Given the description of an element on the screen output the (x, y) to click on. 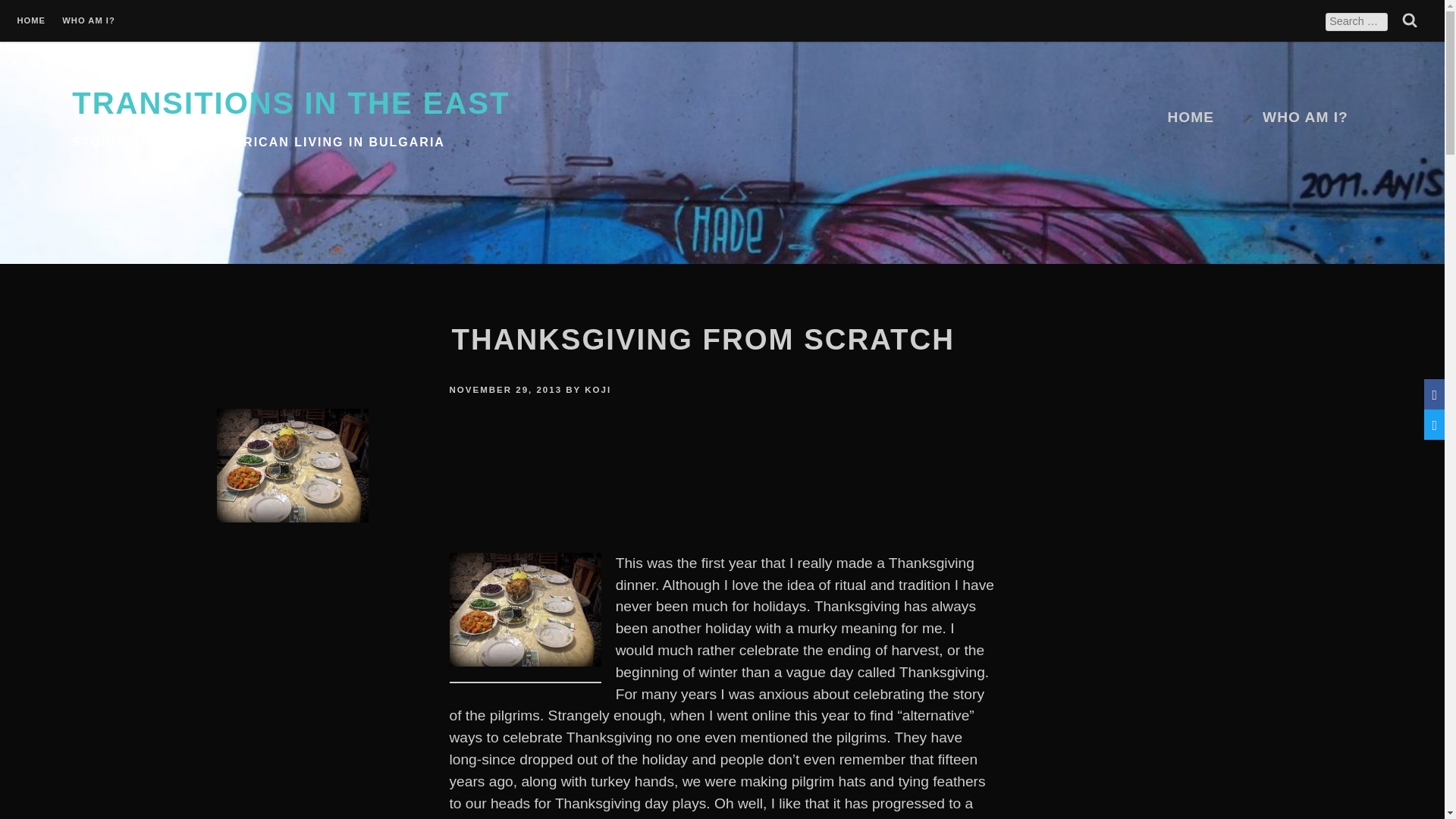
WHO AM I? (88, 22)
Search (1408, 19)
KOJI (598, 391)
HOME (30, 22)
NOVEMBER 29, 2013 (505, 391)
WHO AM I? (1305, 117)
TRANSITIONS IN THE EAST (290, 103)
HOME (1190, 117)
